Given the description of an element on the screen output the (x, y) to click on. 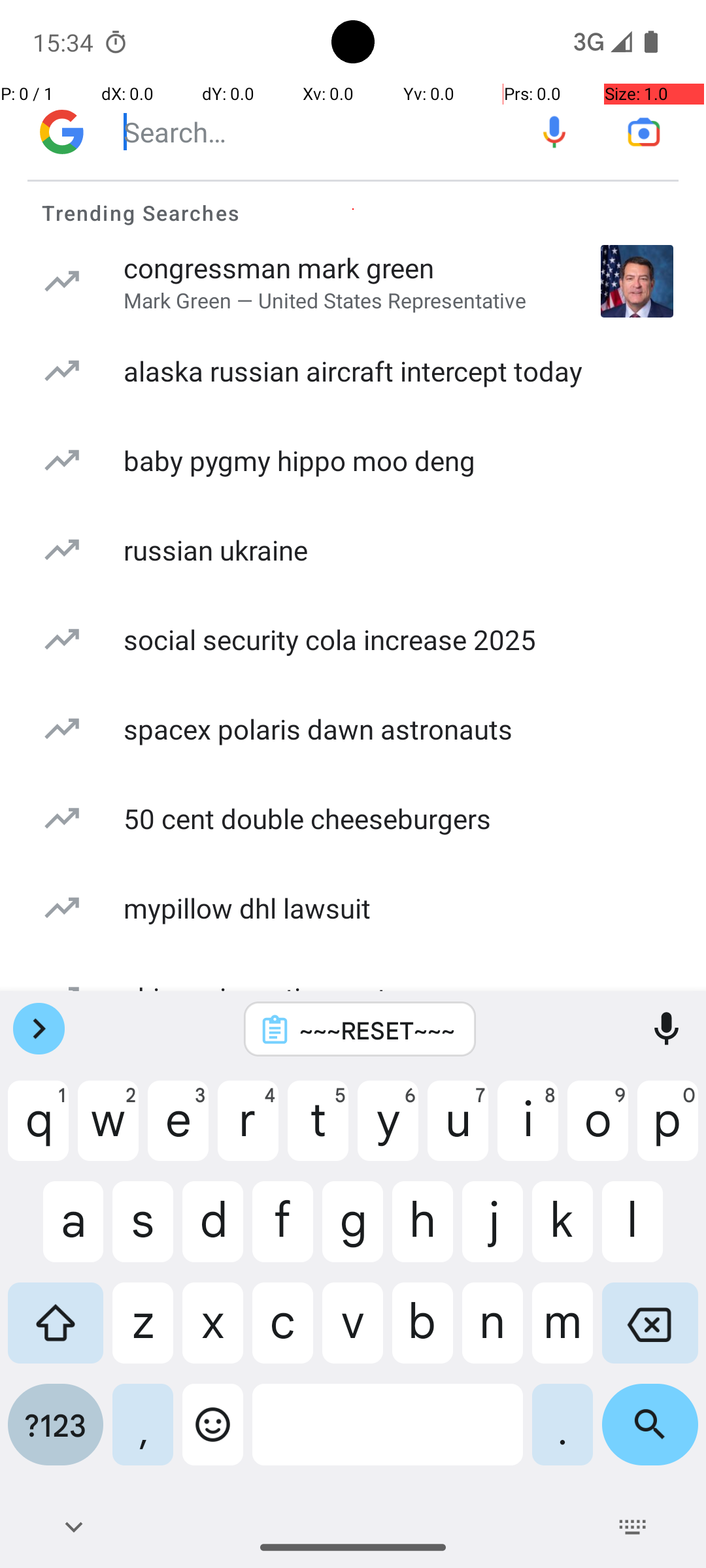
Go to Discover Element type: android.widget.ImageView (61, 131)
Voice Search Element type: android.widget.ImageButton (554, 131)
Predictions Element type: android.support.v7.widget.RecyclerView (353, 874)
Trending Searches Element type: android.widget.TextView (352, 208)
Search congressman mark green Mark Green — United States Representative. Element type: android.view.ViewGroup (352, 281)
Search alaska russian aircraft intercept today. Element type: android.view.ViewGroup (352, 370)
Search baby pygmy hippo moo deng. Element type: android.view.ViewGroup (352, 460)
Search russian ukraine. Element type: android.view.ViewGroup (352, 549)
Search social security cola increase 2025. Element type: android.view.ViewGroup (352, 639)
Search spacex polaris dawn astronauts. Element type: android.view.ViewGroup (352, 728)
Search 50 cent double cheeseburgers. Element type: android.view.ViewGroup (352, 818)
Search mypillow dhl lawsuit. Element type: android.view.ViewGroup (352, 907)
Search china raise retirement age. Element type: android.view.ViewGroup (352, 997)
congressman mark green Element type: android.widget.TextView (278, 267)
Mark Green — United States Representative Element type: android.widget.TextView (324, 300)
alaska russian aircraft intercept today Element type: android.widget.TextView (352, 370)
baby pygmy hippo moo deng Element type: android.widget.TextView (299, 459)
russian ukraine Element type: android.widget.TextView (215, 549)
social security cola increase 2025 Element type: android.widget.TextView (329, 638)
spacex polaris dawn astronauts Element type: android.widget.TextView (317, 728)
50 cent double cheeseburgers Element type: android.widget.TextView (306, 817)
mypillow dhl lawsuit Element type: android.widget.TextView (246, 907)
china raise retirement age Element type: android.widget.TextView (280, 996)
